Given the description of an element on the screen output the (x, y) to click on. 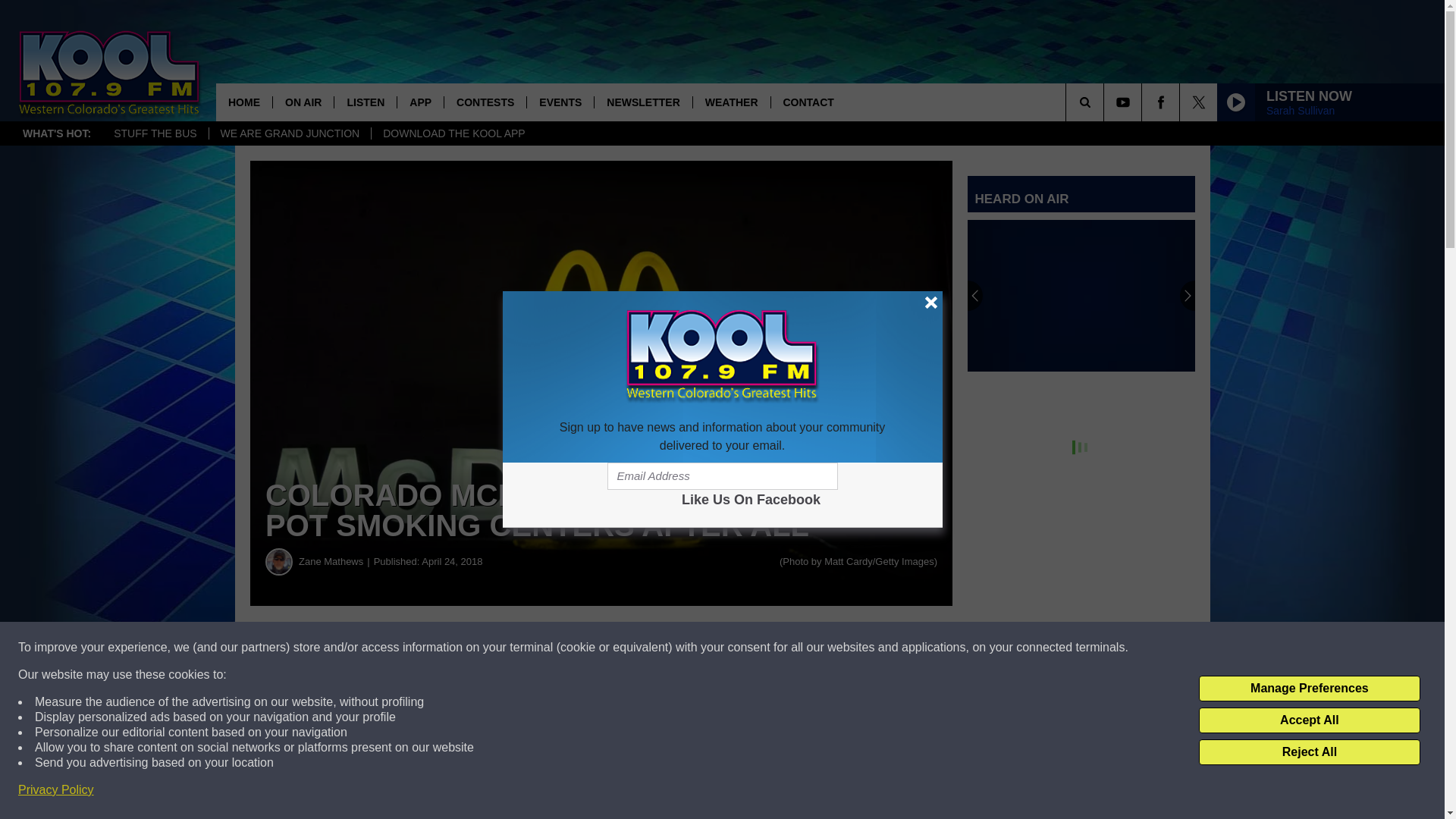
STUFF THE BUS (154, 133)
Email Address (722, 475)
Accept All (1309, 720)
Privacy Policy (55, 789)
SEARCH (1106, 102)
Reject All (1309, 751)
WE ARE GRAND JUNCTION (289, 133)
LISTEN (364, 102)
Manage Preferences (1309, 688)
SEARCH (1106, 102)
ON AIR (302, 102)
HOME (243, 102)
WHAT'S HOT: (56, 133)
Share on Facebook (460, 647)
APP (420, 102)
